Given the description of an element on the screen output the (x, y) to click on. 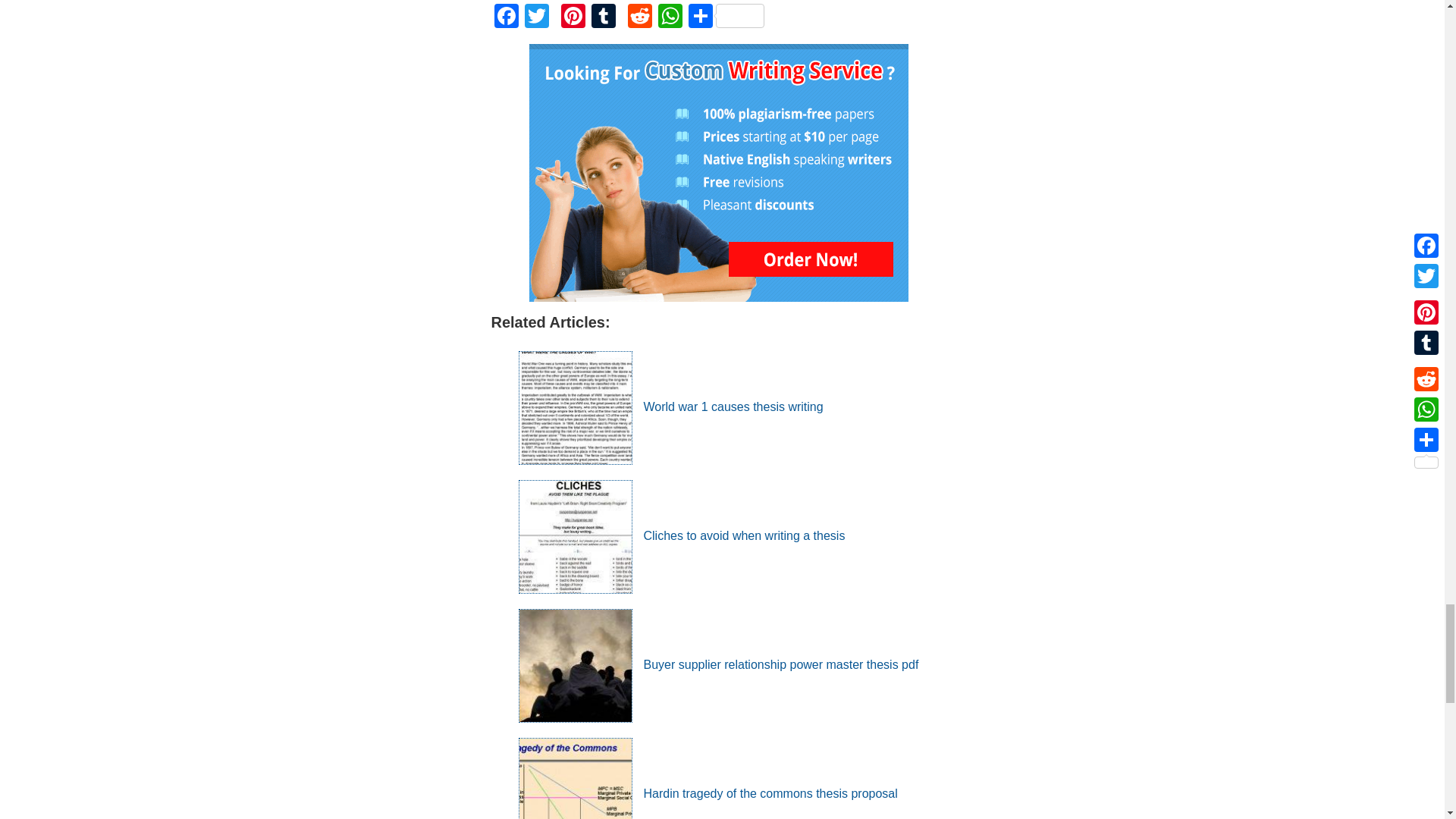
Twitter (536, 17)
Cliches to avoid when writing a thesis (681, 535)
Buyer supplier relationship power master thesis pdf (718, 664)
Facebook (506, 17)
Pinterest (572, 17)
World war 1 causes thesis writing (671, 406)
Hardin tragedy of the commons thesis proposal (708, 793)
Tumblr (603, 17)
Reddit (639, 17)
WhatsApp (670, 17)
